Given the description of an element on the screen output the (x, y) to click on. 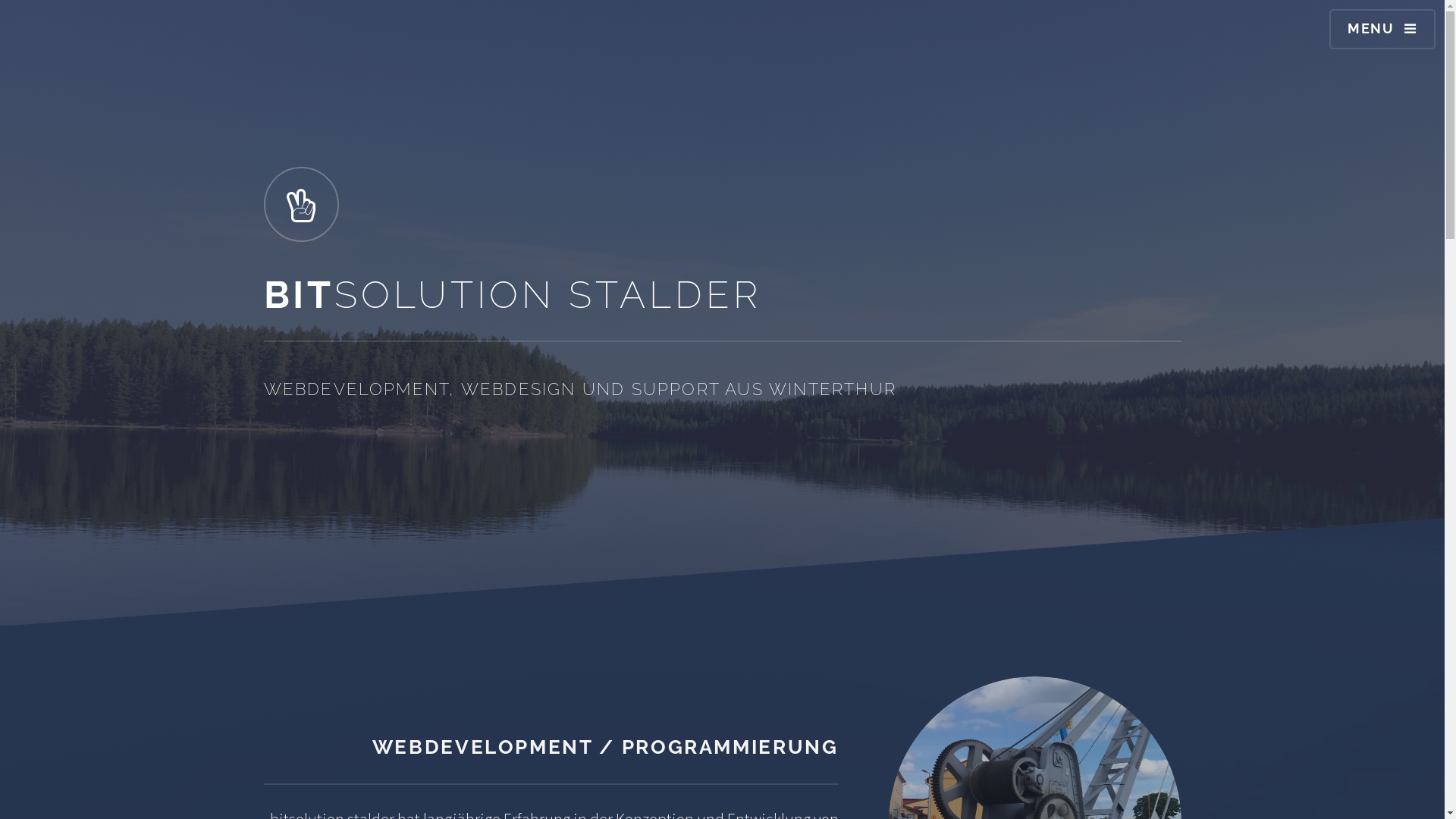
MENU Element type: text (1382, 29)
